Given the description of an element on the screen output the (x, y) to click on. 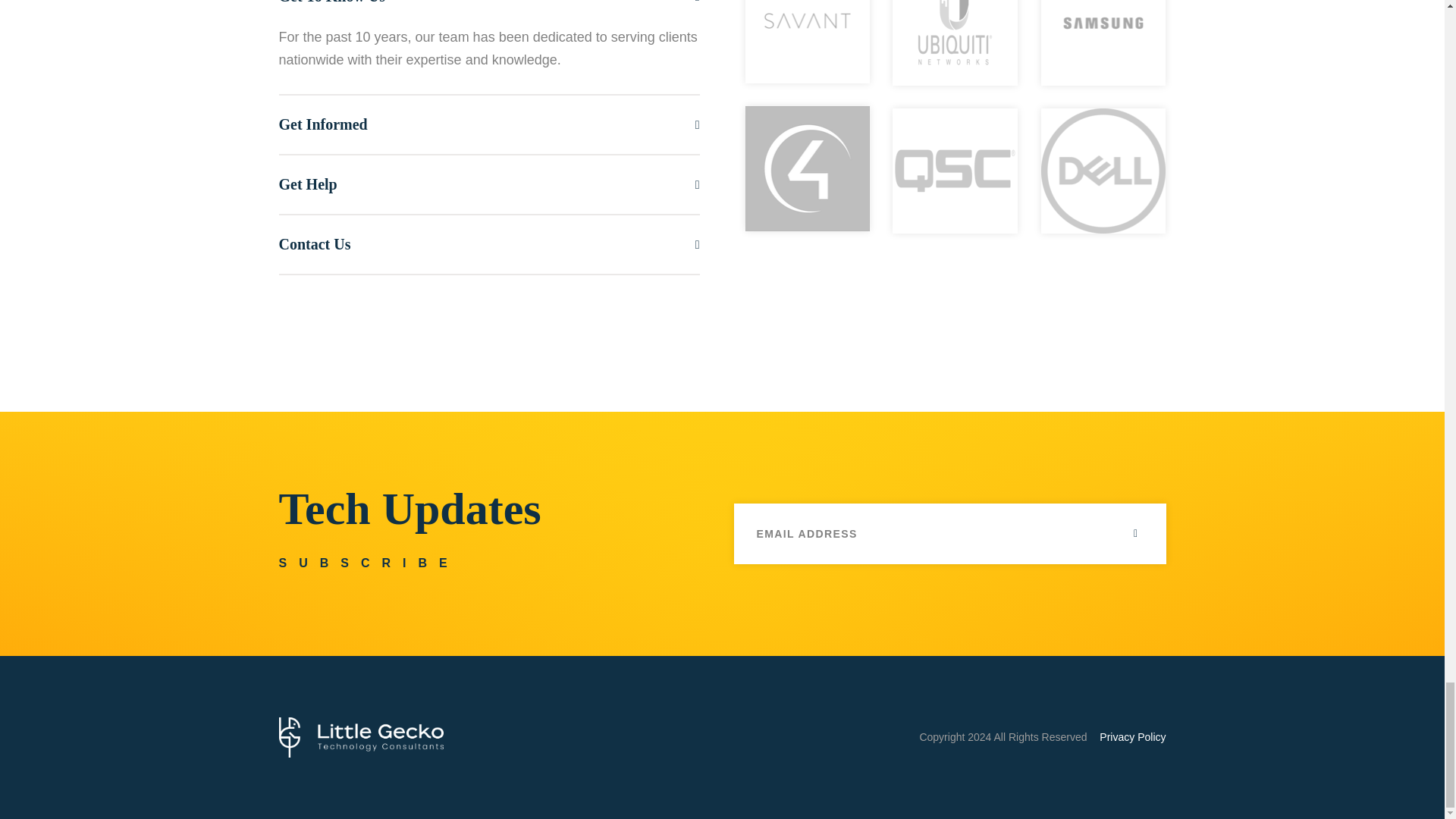
Get To Know Us (489, 12)
Contact Us (489, 244)
SUBMIT (1135, 533)
Get Informed (489, 124)
Get Help (489, 184)
